Given the description of an element on the screen output the (x, y) to click on. 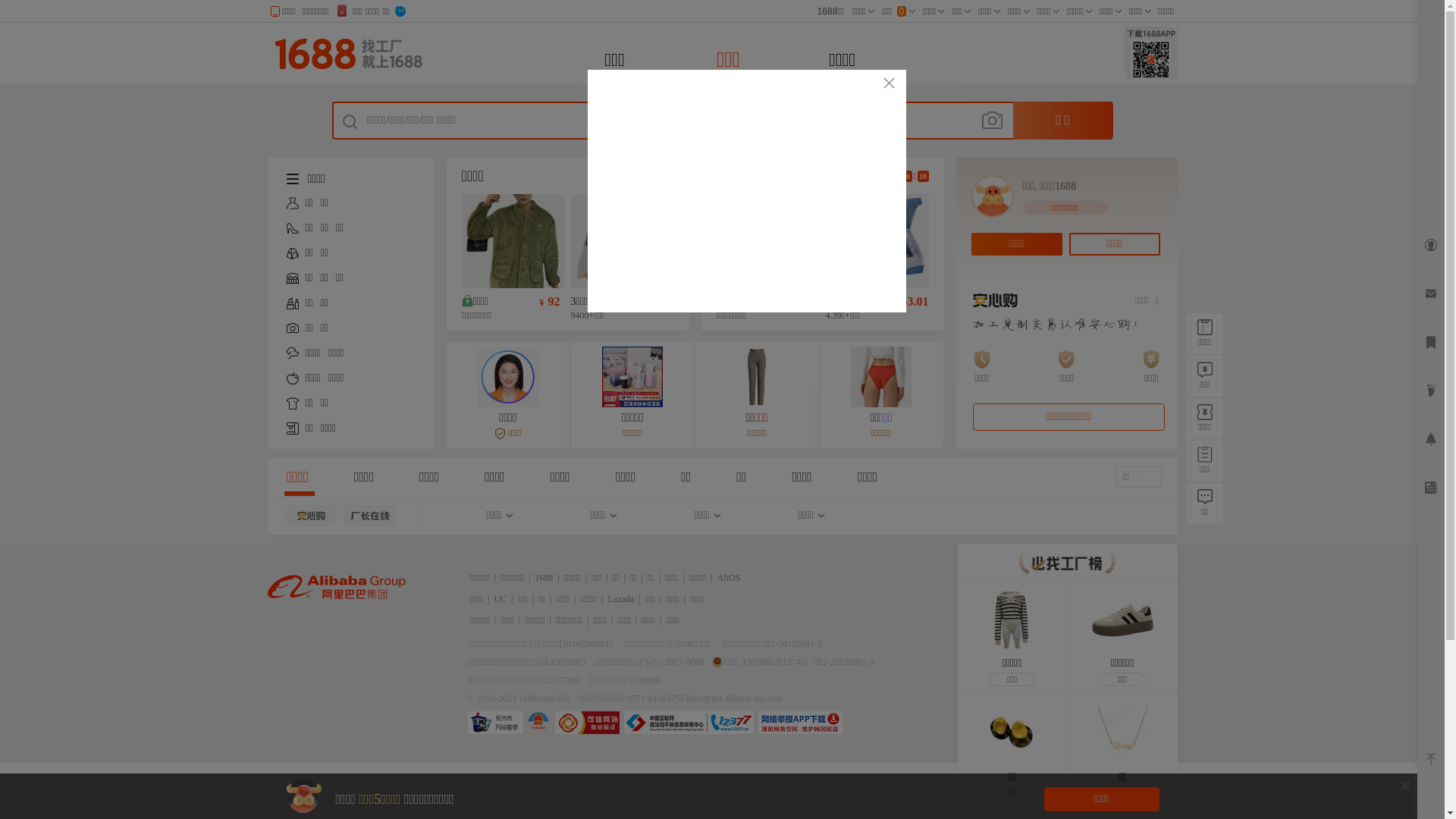
1688 Element type: text (543, 577)
UC Element type: text (499, 598)
AliOS Element type: text (728, 577)
Lazada Element type: text (621, 598)
